Given the description of an element on the screen output the (x, y) to click on. 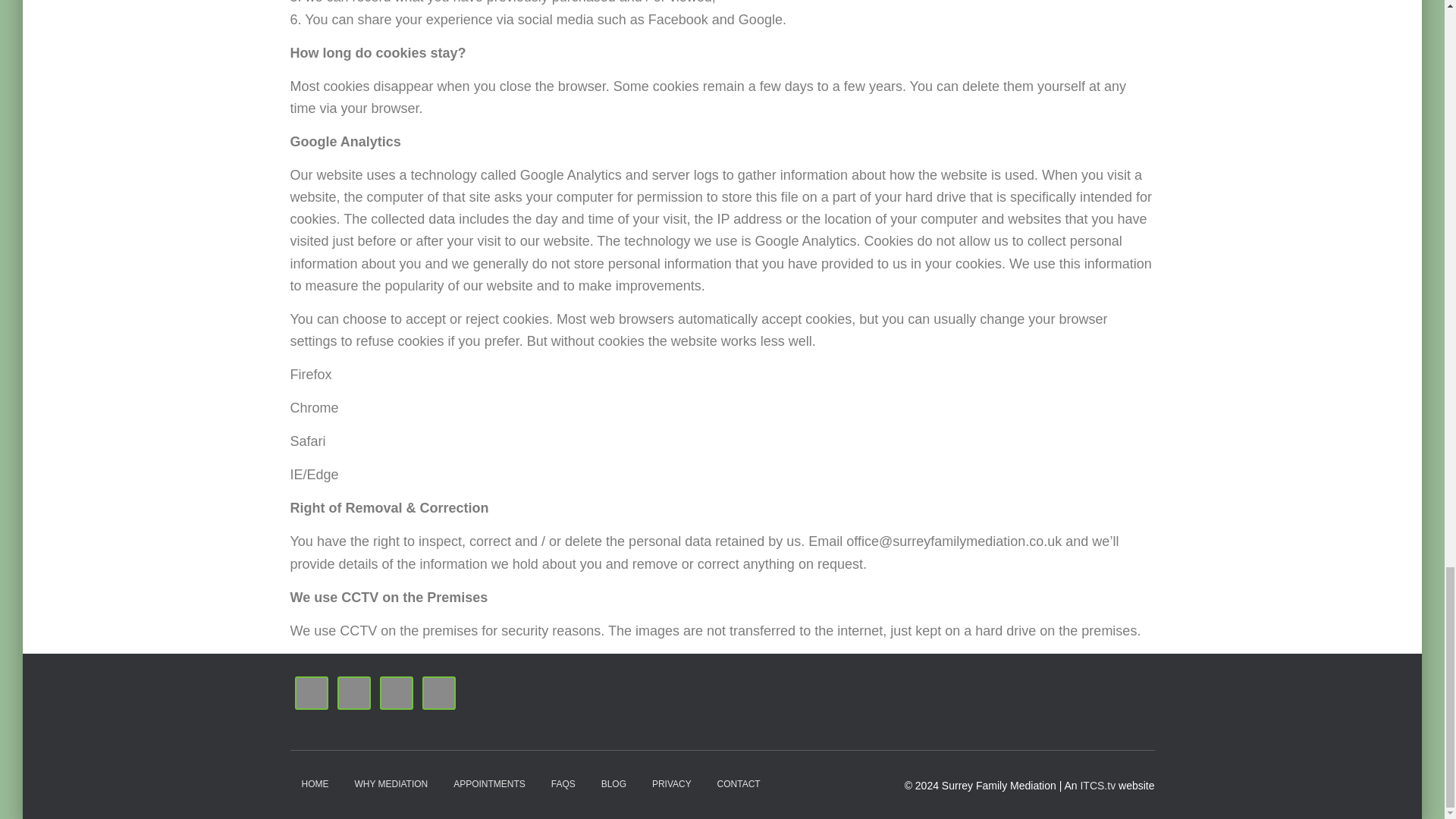
APPOINTMENTS (489, 784)
FAQS (563, 784)
PRIVACY (671, 784)
CONTACT (738, 784)
WHY MEDIATION (390, 784)
HOME (314, 784)
BLOG (613, 784)
ITCS.tv (1097, 785)
